Given the description of an element on the screen output the (x, y) to click on. 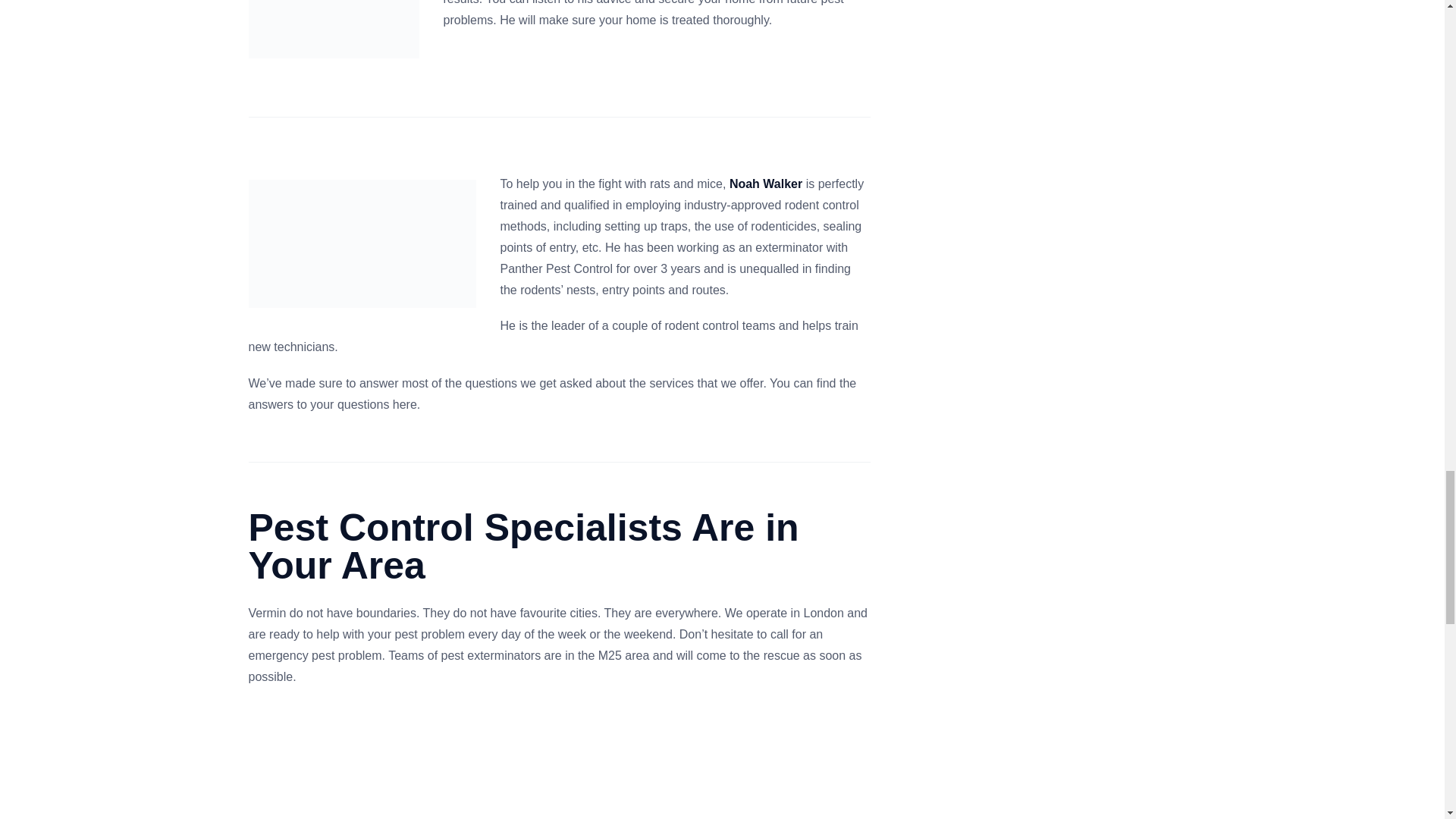
Tooting, London, United Kingdom (559, 765)
